Given the description of an element on the screen output the (x, y) to click on. 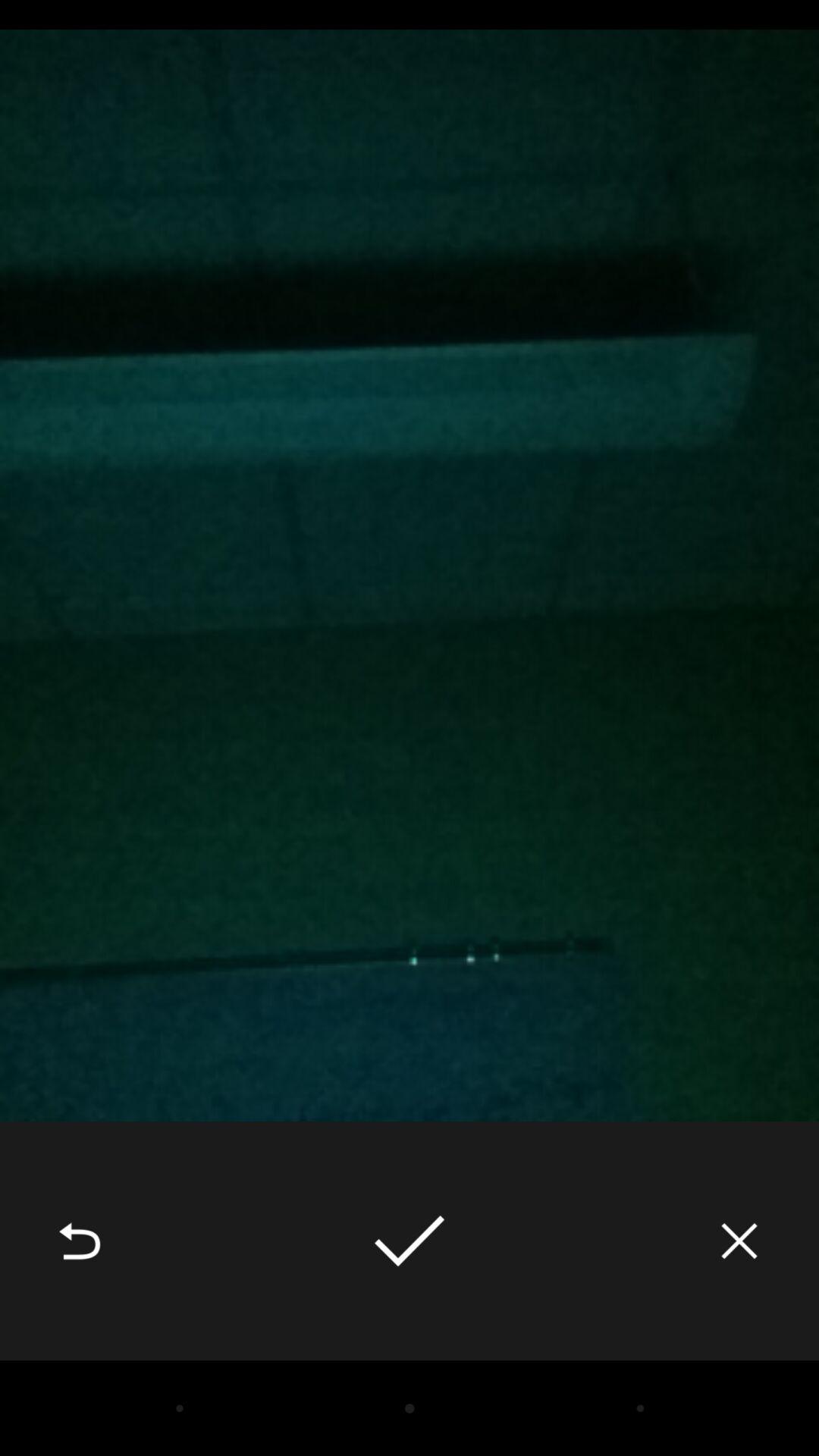
open the icon at the bottom left corner (79, 1240)
